Given the description of an element on the screen output the (x, y) to click on. 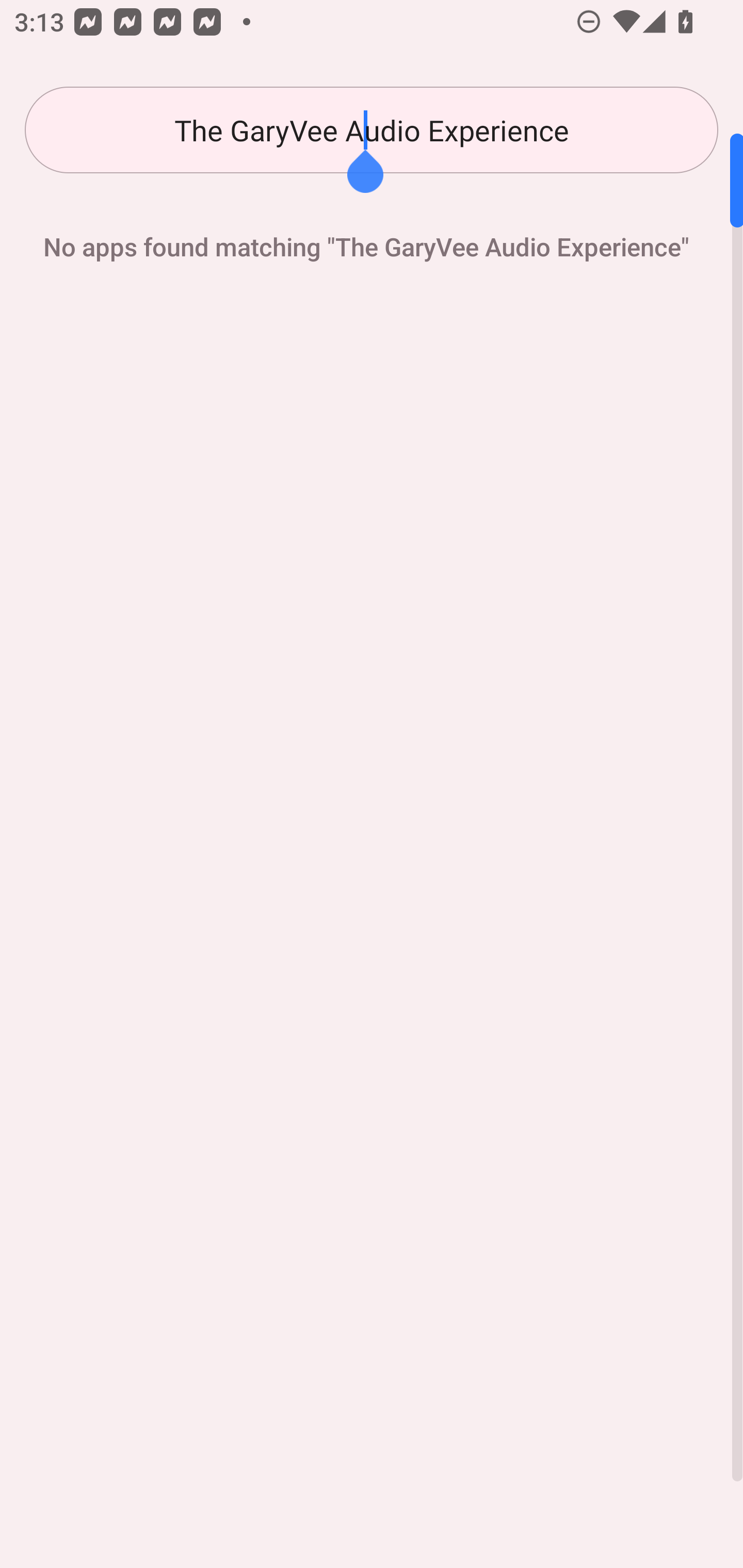
The GaryVee Audio Experience (371, 130)
